Given the description of an element on the screen output the (x, y) to click on. 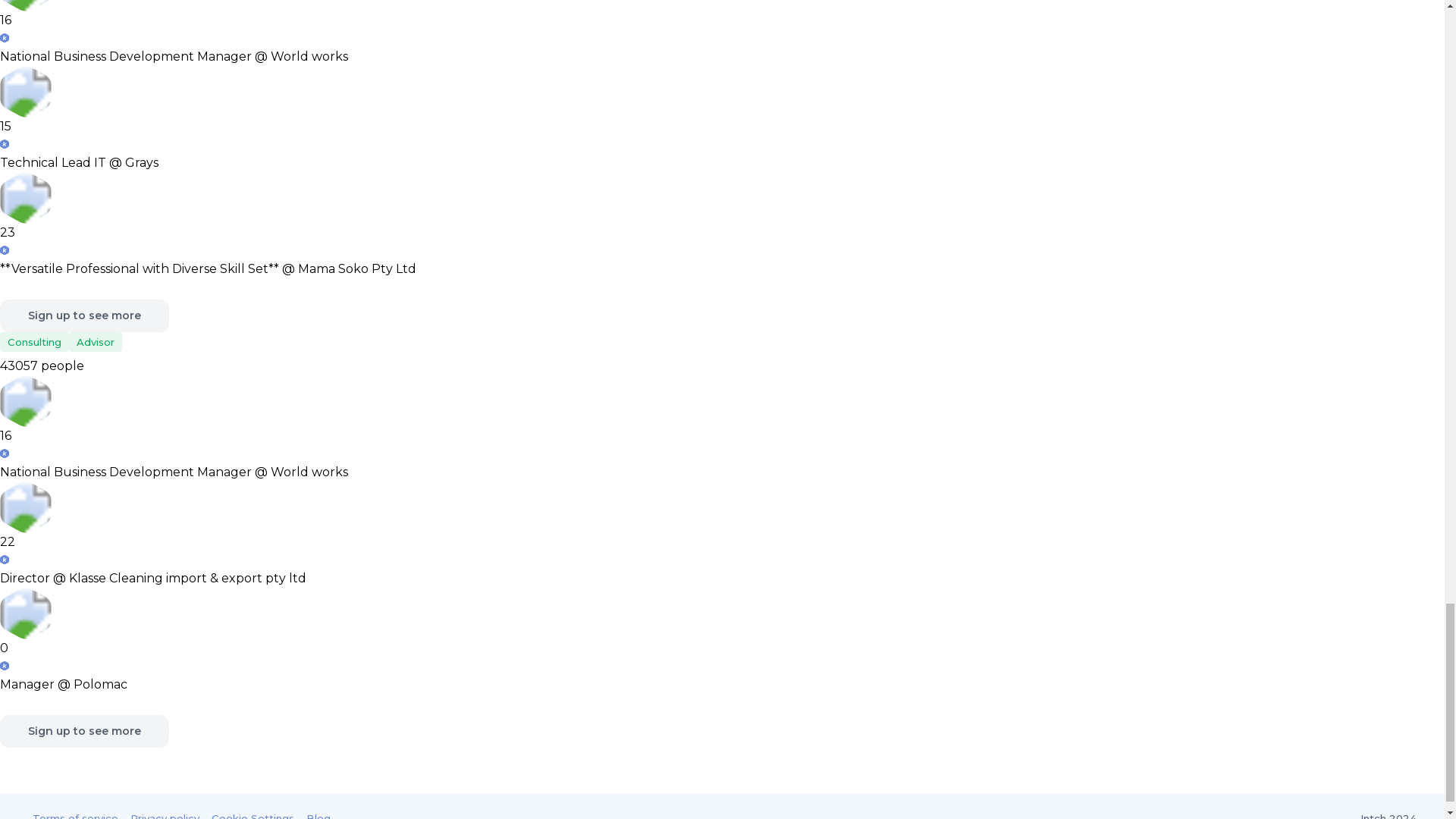
Cookie Settings (252, 815)
Sign up to see more (84, 315)
Privacy policy (165, 815)
Terms of service (74, 815)
Sign up to see more (84, 730)
Blog (317, 815)
